Given the description of an element on the screen output the (x, y) to click on. 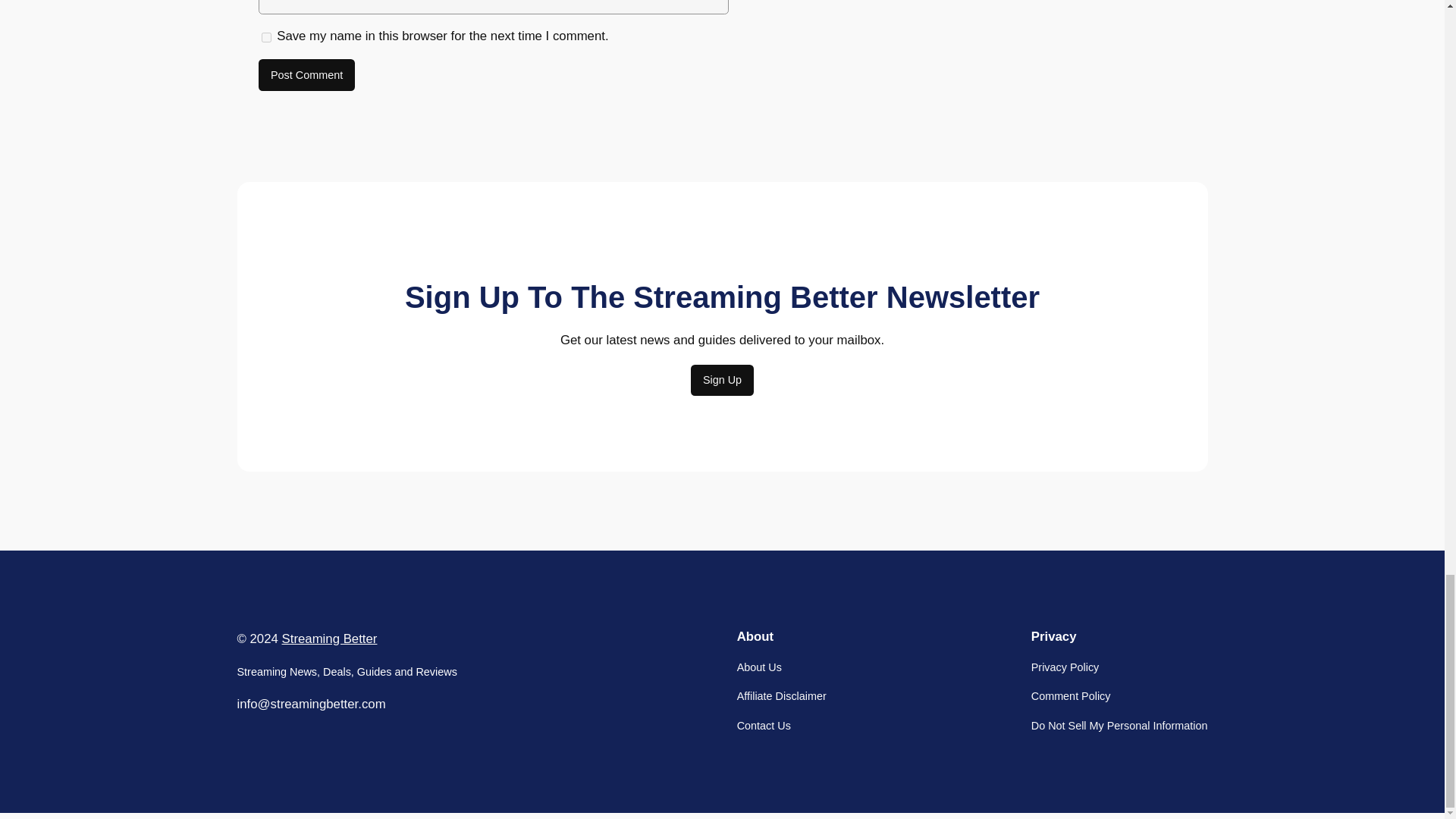
Post Comment (307, 74)
yes (266, 37)
